Given the description of an element on the screen output the (x, y) to click on. 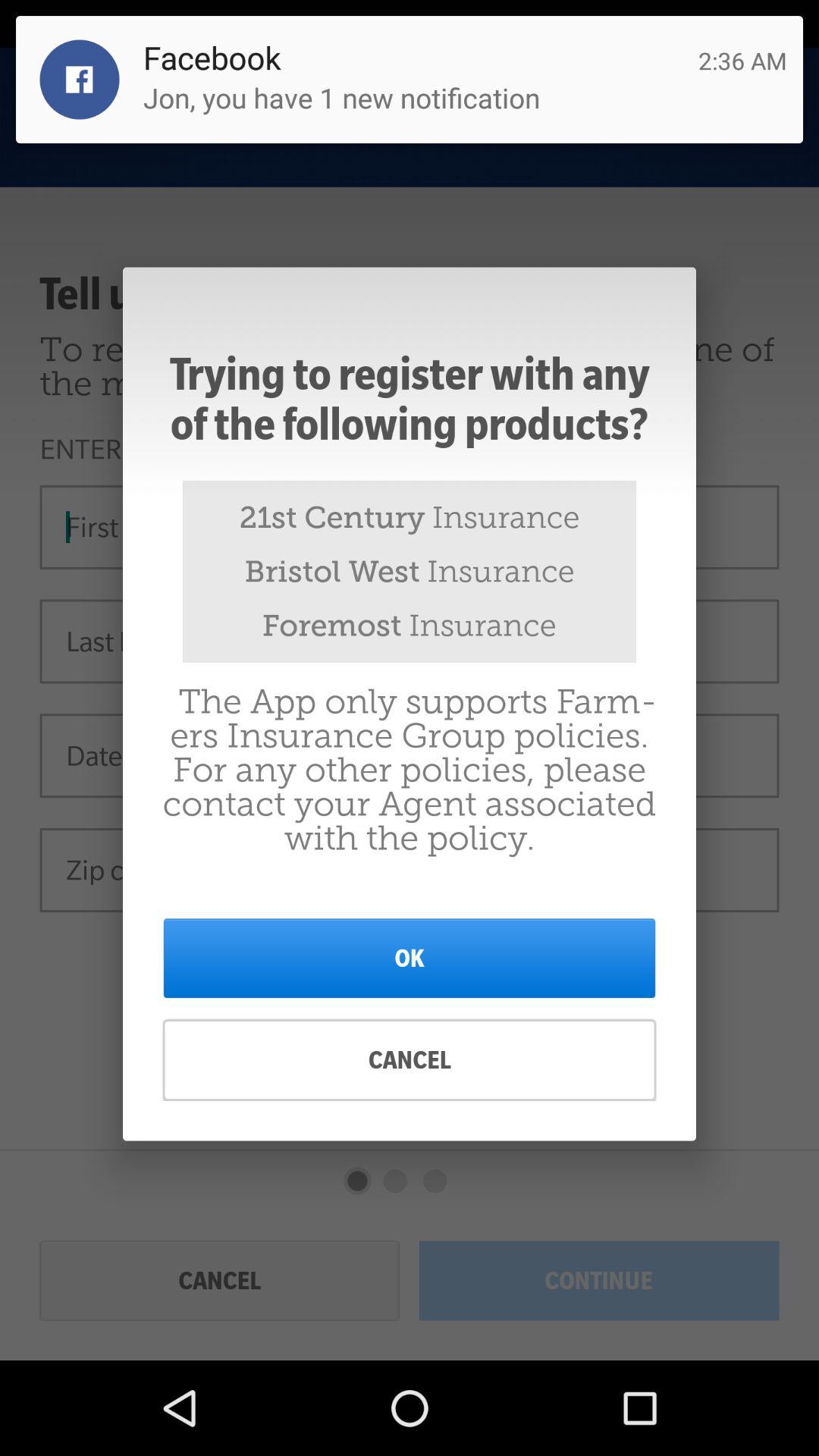
choose the cancel at the bottom (409, 1060)
